Given the description of an element on the screen output the (x, y) to click on. 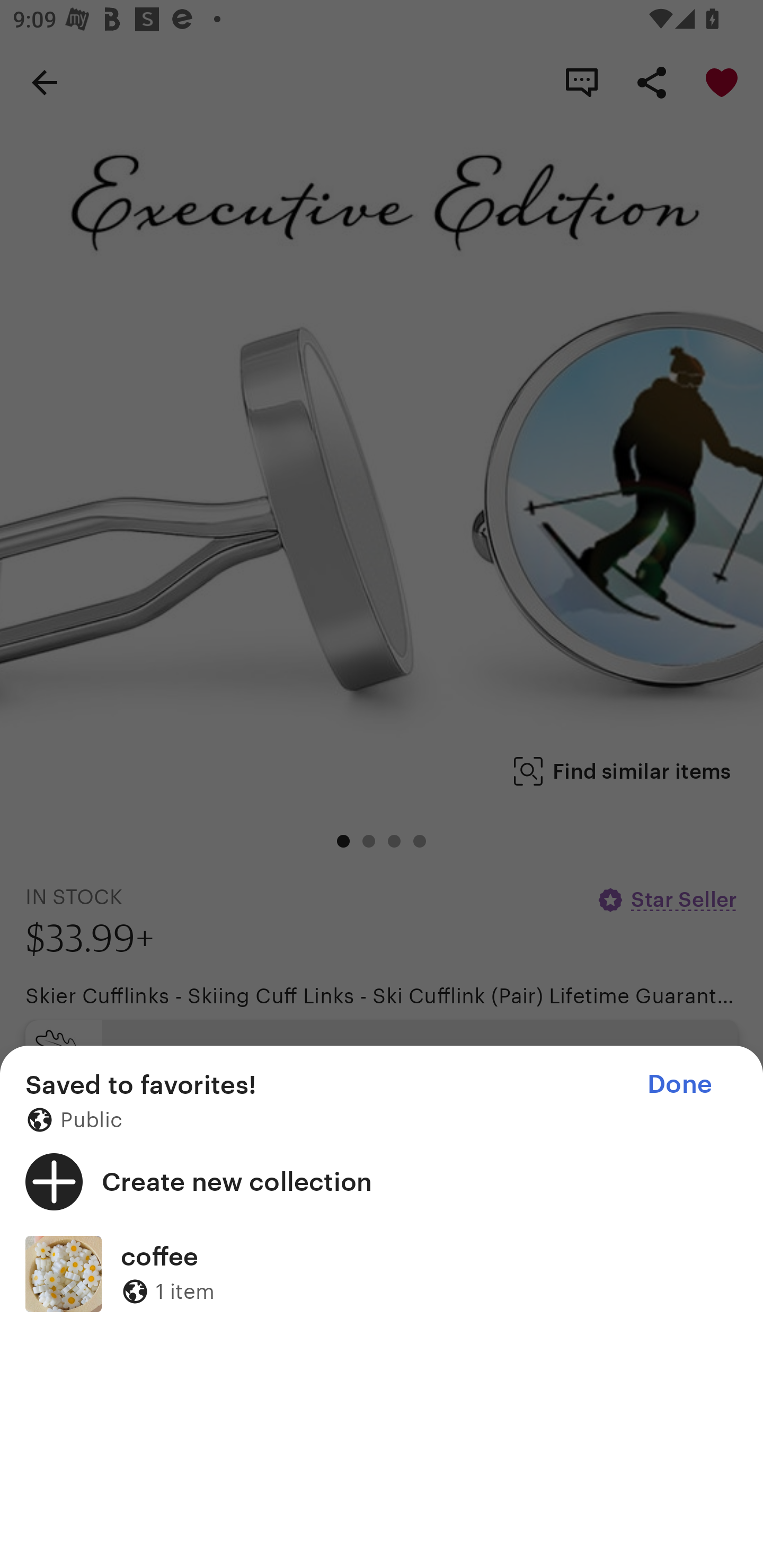
Done (679, 1083)
Create new collection (381, 1181)
coffee 1 item (381, 1273)
